Given the description of an element on the screen output the (x, y) to click on. 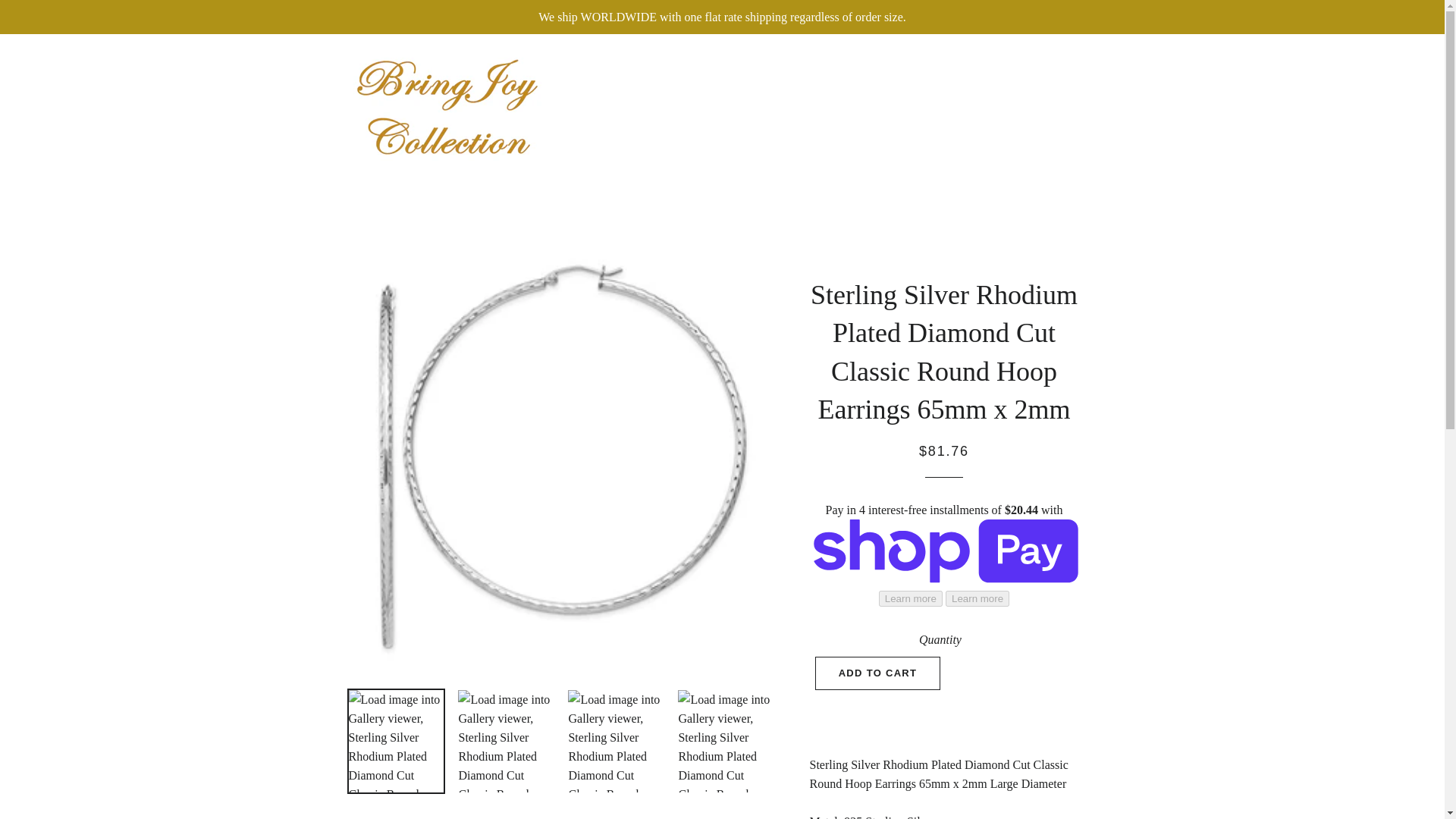
ADD TO CART (877, 673)
